Given the description of an element on the screen output the (x, y) to click on. 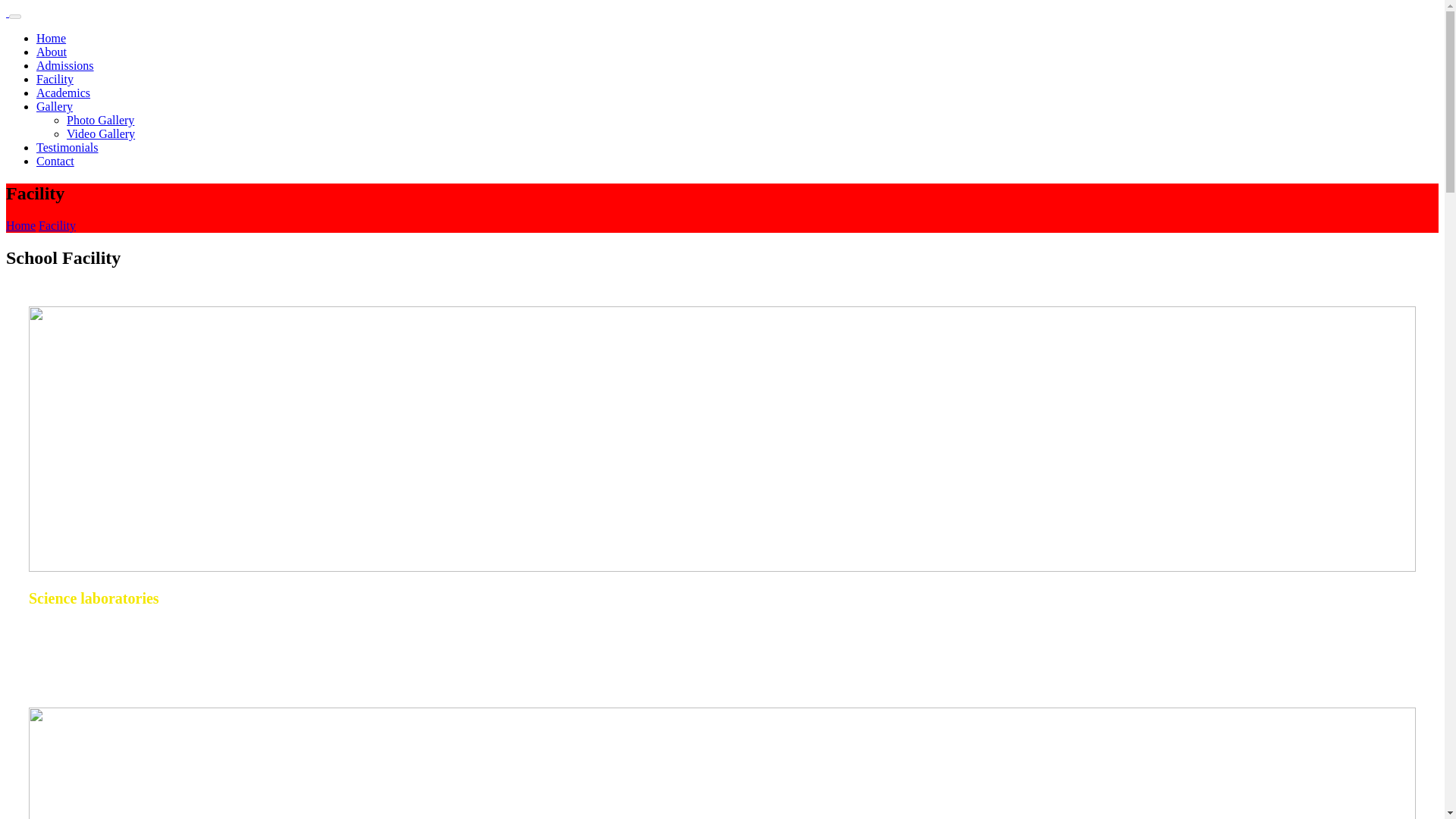
Academics (63, 92)
Gallery (54, 106)
Admissions (65, 65)
Contact (55, 160)
Facility (55, 78)
Facility (57, 225)
Photo Gallery (99, 119)
Home (50, 38)
Testimonials (67, 146)
Home (19, 225)
About (51, 51)
Video Gallery (100, 133)
